Given the description of an element on the screen output the (x, y) to click on. 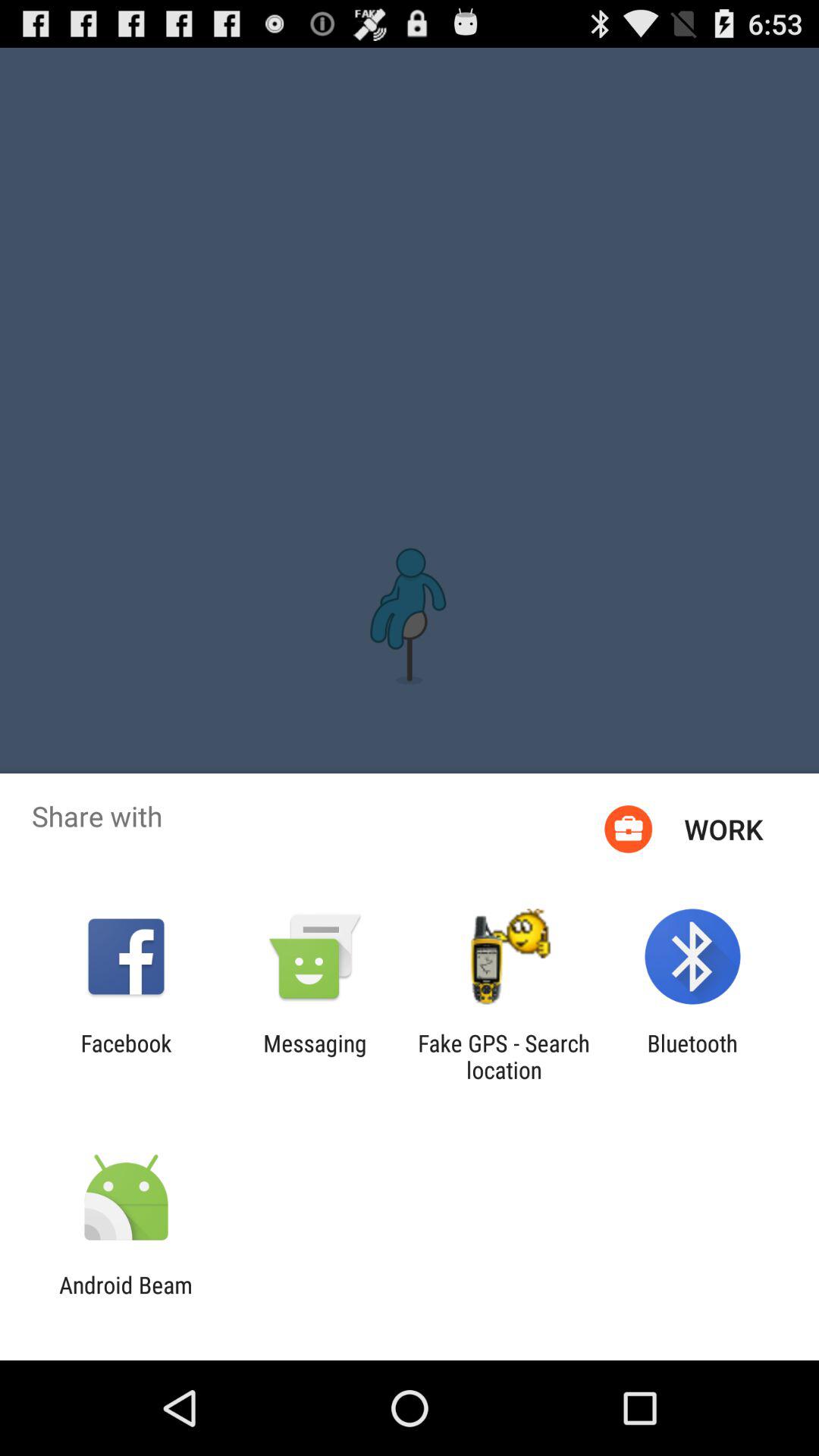
open app next to the bluetooth item (503, 1056)
